Given the description of an element on the screen output the (x, y) to click on. 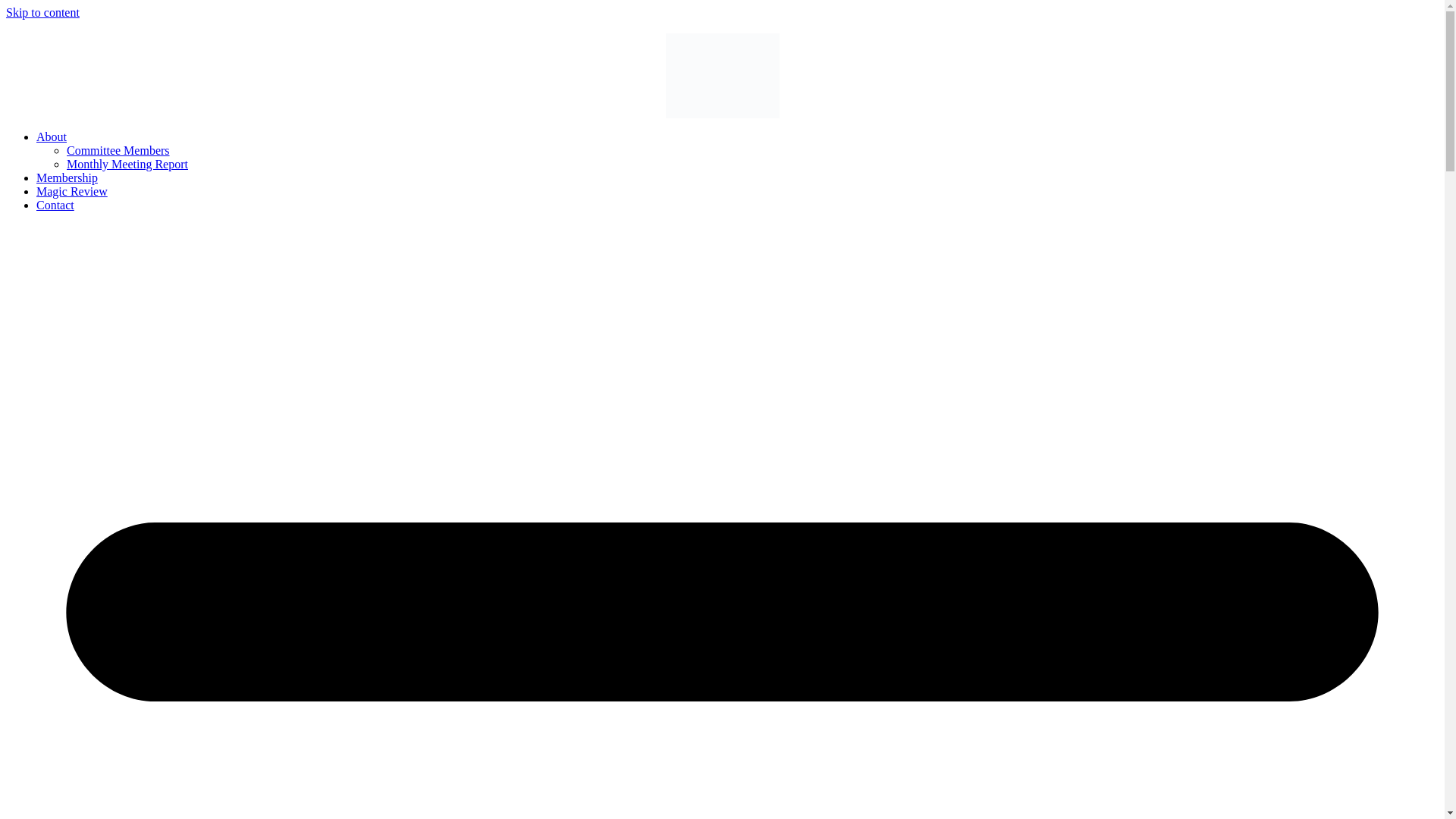
Contact (55, 205)
Membership (66, 177)
About (51, 136)
IBM115Logo.png (721, 75)
Committee Members (118, 150)
Monthly Meeting Report (126, 164)
Magic Review (71, 191)
Skip to content (42, 11)
